Given the description of an element on the screen output the (x, y) to click on. 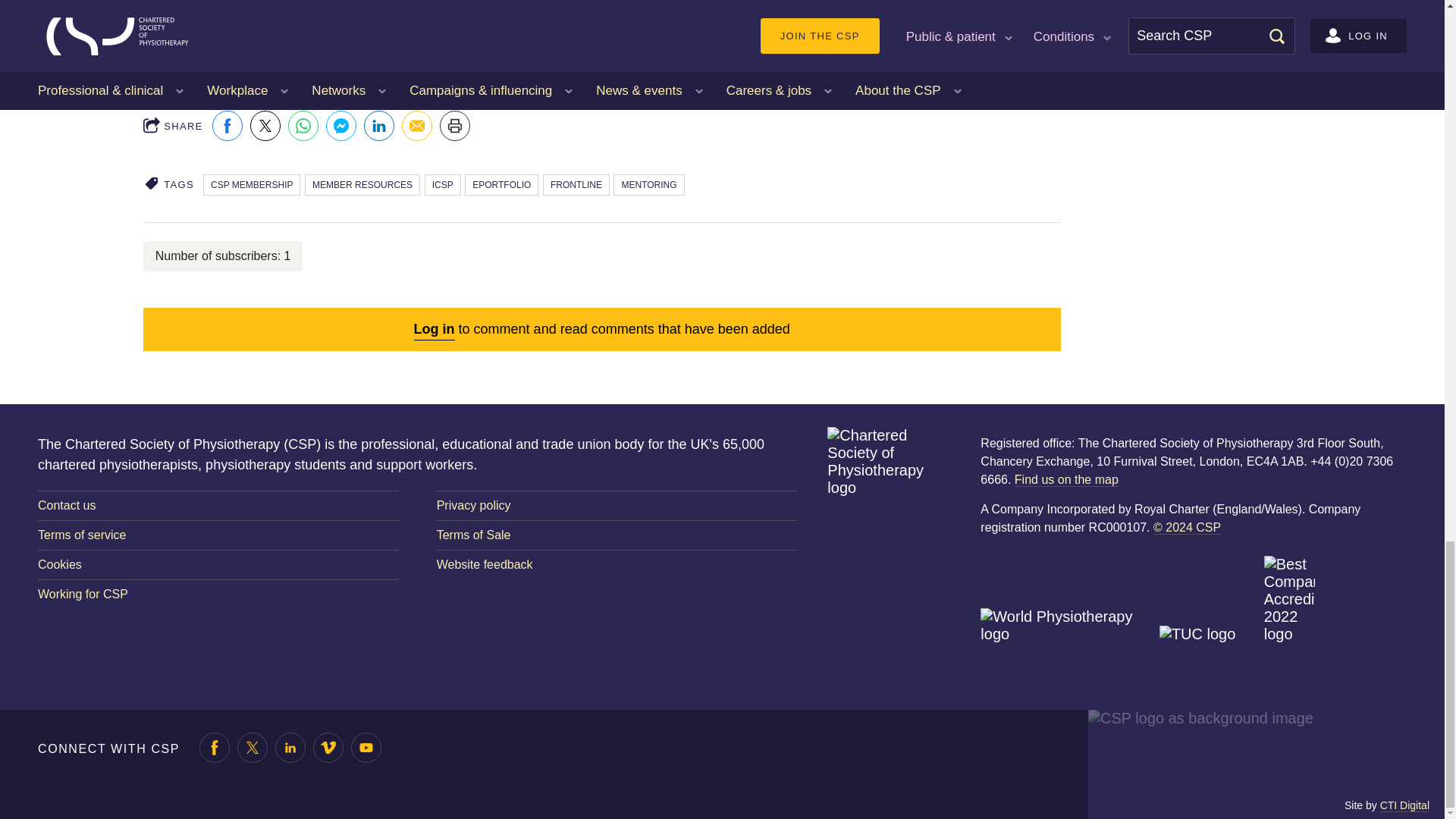
Facebook messenger (341, 125)
Email (416, 125)
WhatsApp (303, 125)
The CSP-wide privacy policy (616, 505)
Facebook (227, 125)
Linkedin (379, 125)
Webform for contacting the CSP. (217, 505)
